Given the description of an element on the screen output the (x, y) to click on. 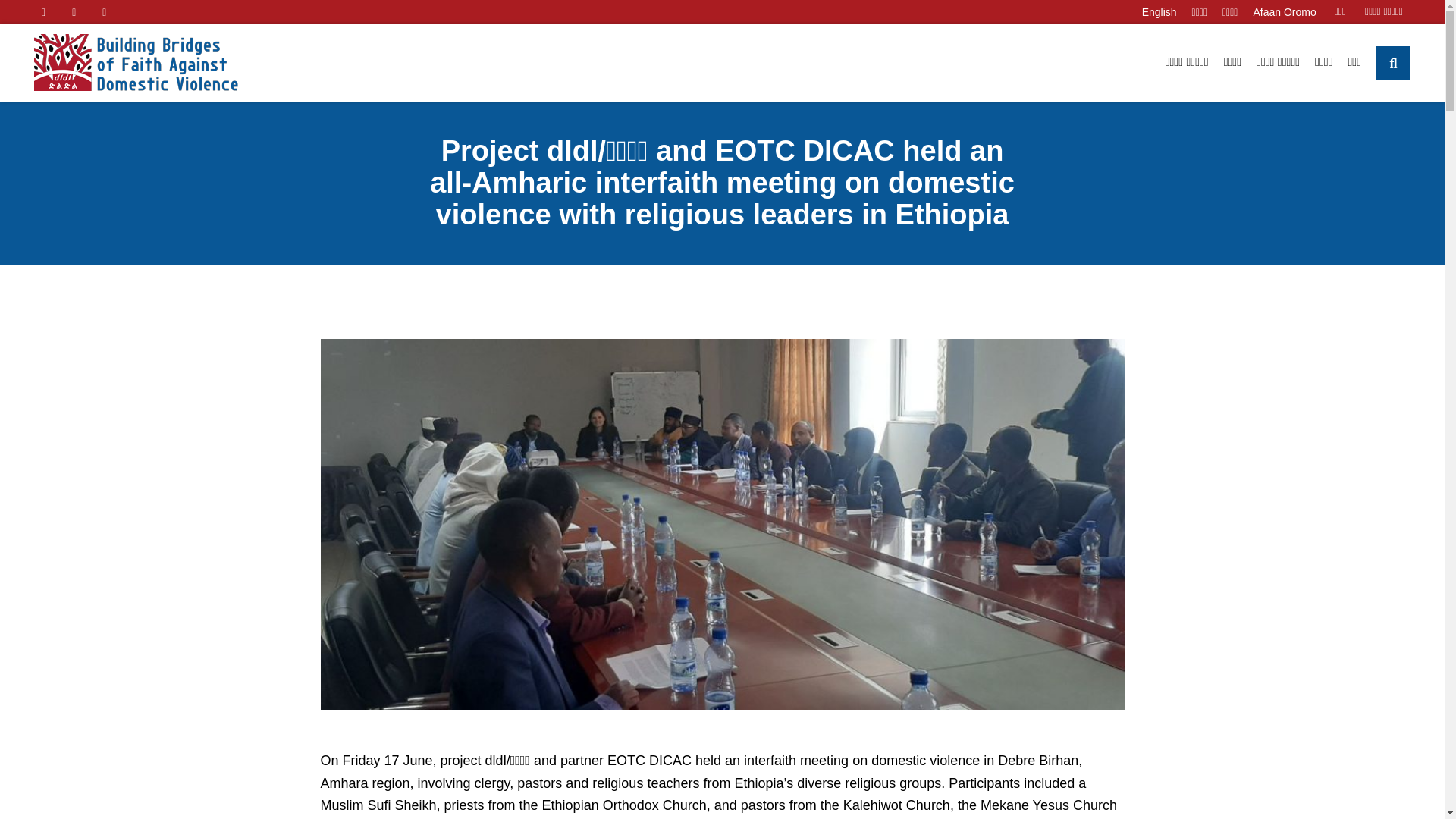
English (1159, 11)
Search (1310, 62)
Afaan Oromo (1283, 11)
